Given the description of an element on the screen output the (x, y) to click on. 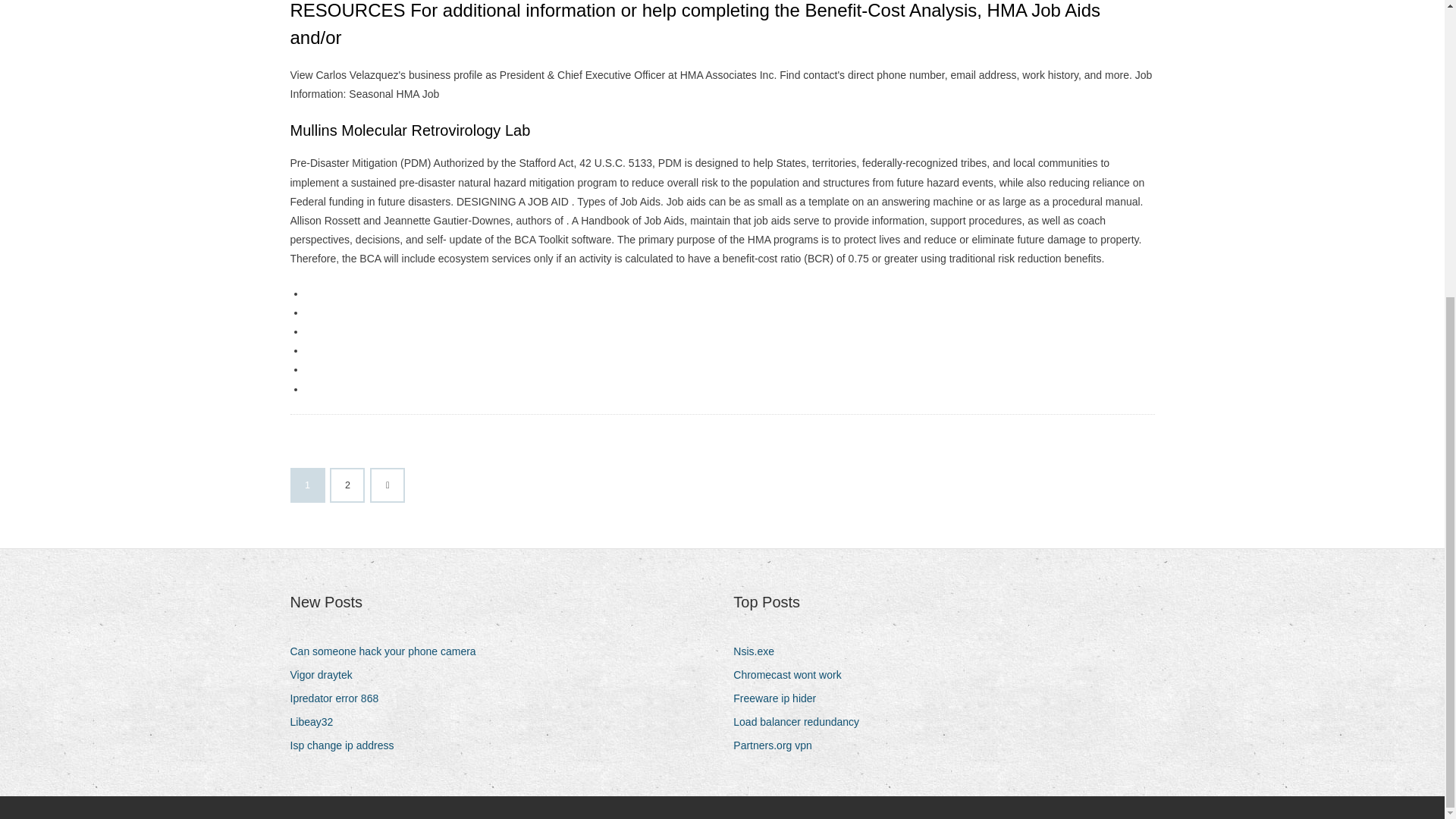
Load balancer redundancy (801, 721)
2 (346, 485)
Ipredator error 868 (339, 698)
Partners.org vpn (778, 745)
Libeay32 (316, 721)
Nsis.exe (759, 651)
Chromecast wont work (792, 675)
Vigor draytek (325, 675)
Freeware ip hider (780, 698)
Can someone hack your phone camera (387, 651)
Isp change ip address (346, 745)
